Given the description of an element on the screen output the (x, y) to click on. 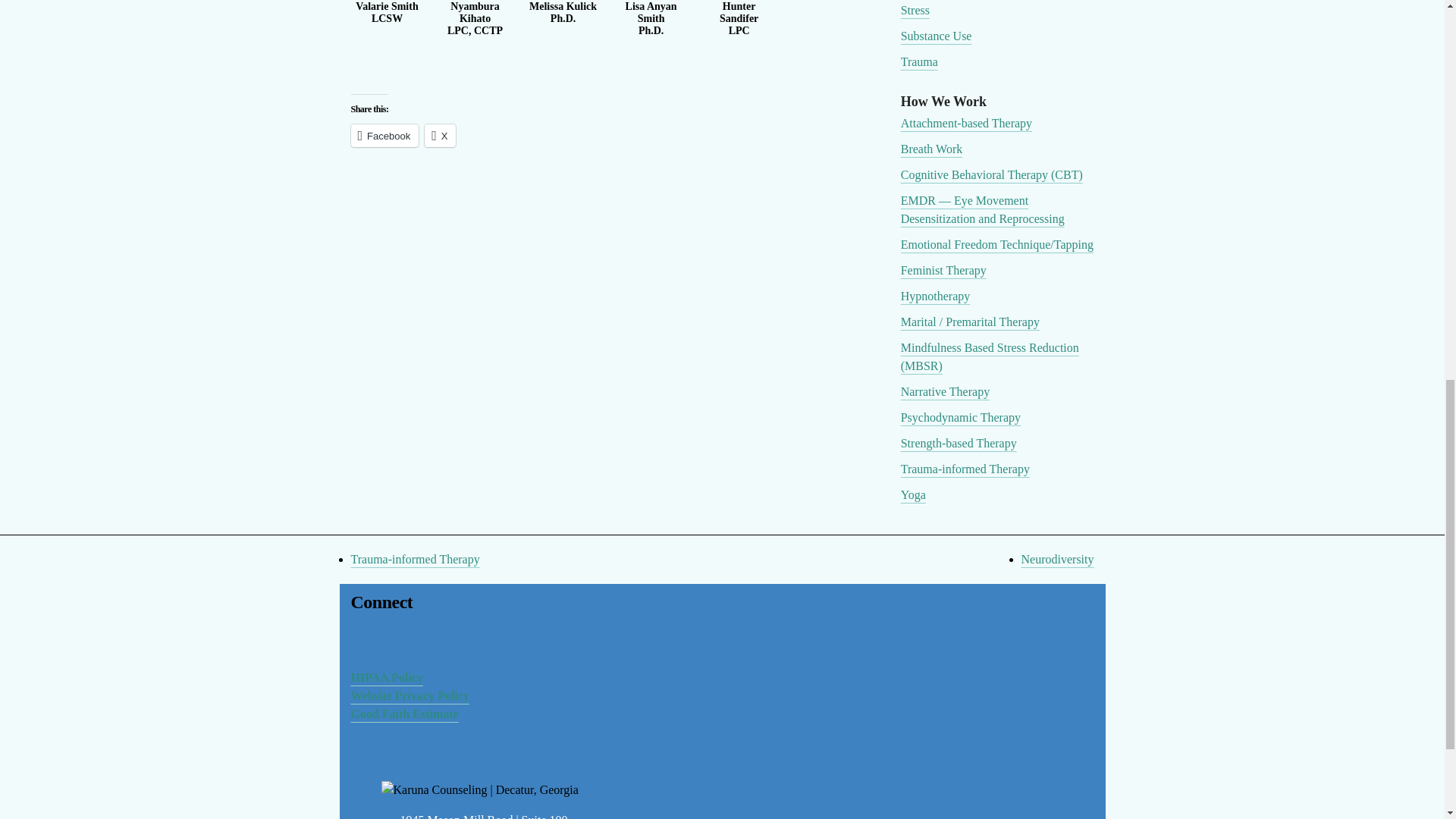
Stress (915, 10)
X (440, 135)
Click to share on X (440, 135)
Facebook (384, 135)
Substance Use (936, 35)
Click to share on Facebook (384, 135)
